Given the description of an element on the screen output the (x, y) to click on. 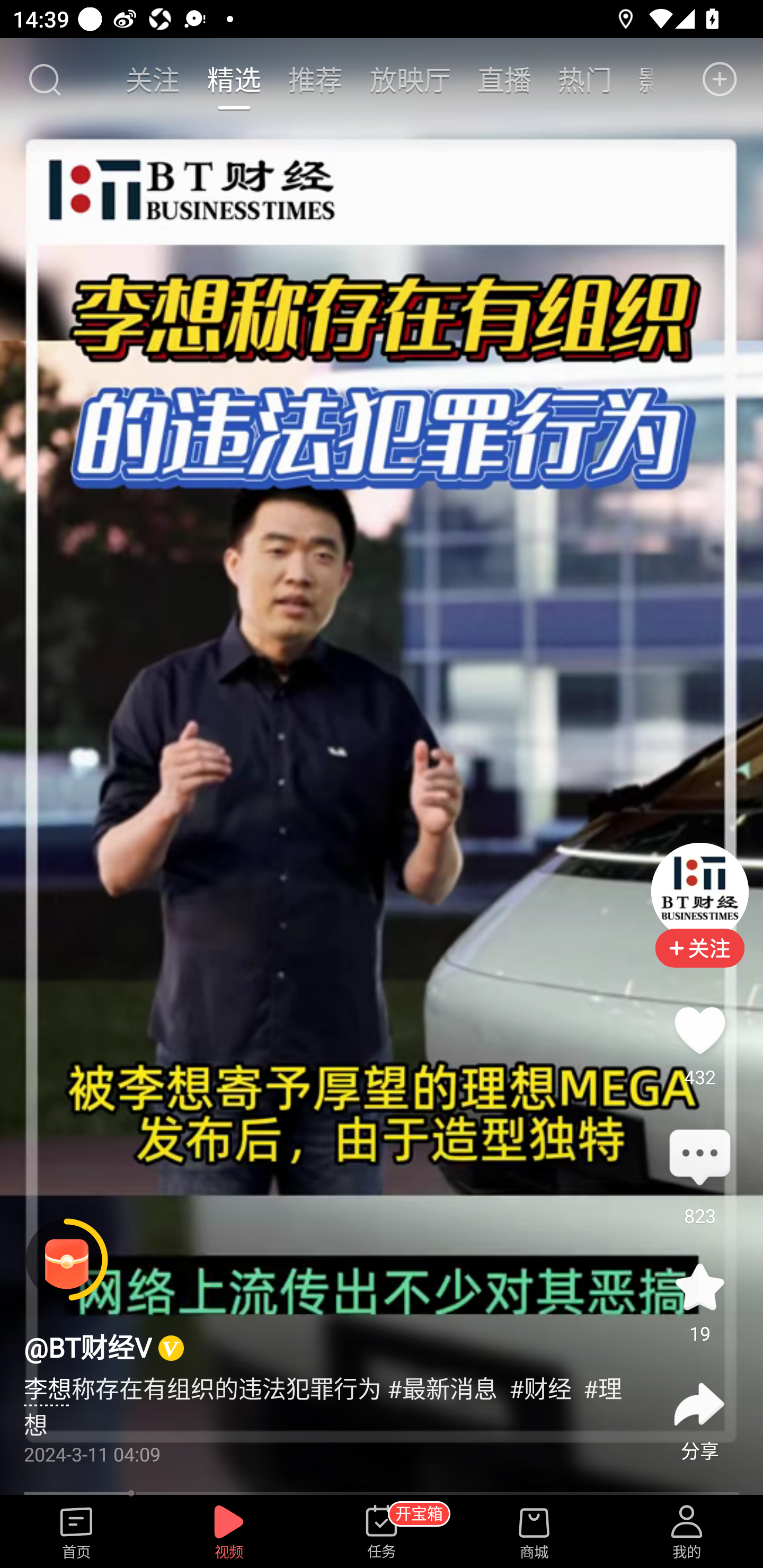
关注 (153, 79)
精选 (233, 79)
推荐 (315, 79)
放映厅 (409, 79)
直播 (504, 79)
热门 (584, 79)
搜索 (44, 79)
发布 (720, 79)
头像 (699, 891)
点赞432 432 (699, 1030)
评论823 评论 823 (699, 1158)
阅读赚金币 (66, 1259)
收藏 19 (699, 1286)
@BT财经V (87, 1348)
分享 (699, 1403)
首页 (76, 1532)
视频 (228, 1532)
任务 开宝箱 (381, 1532)
商城 (533, 1532)
我的 (686, 1532)
